Given the description of an element on the screen output the (x, y) to click on. 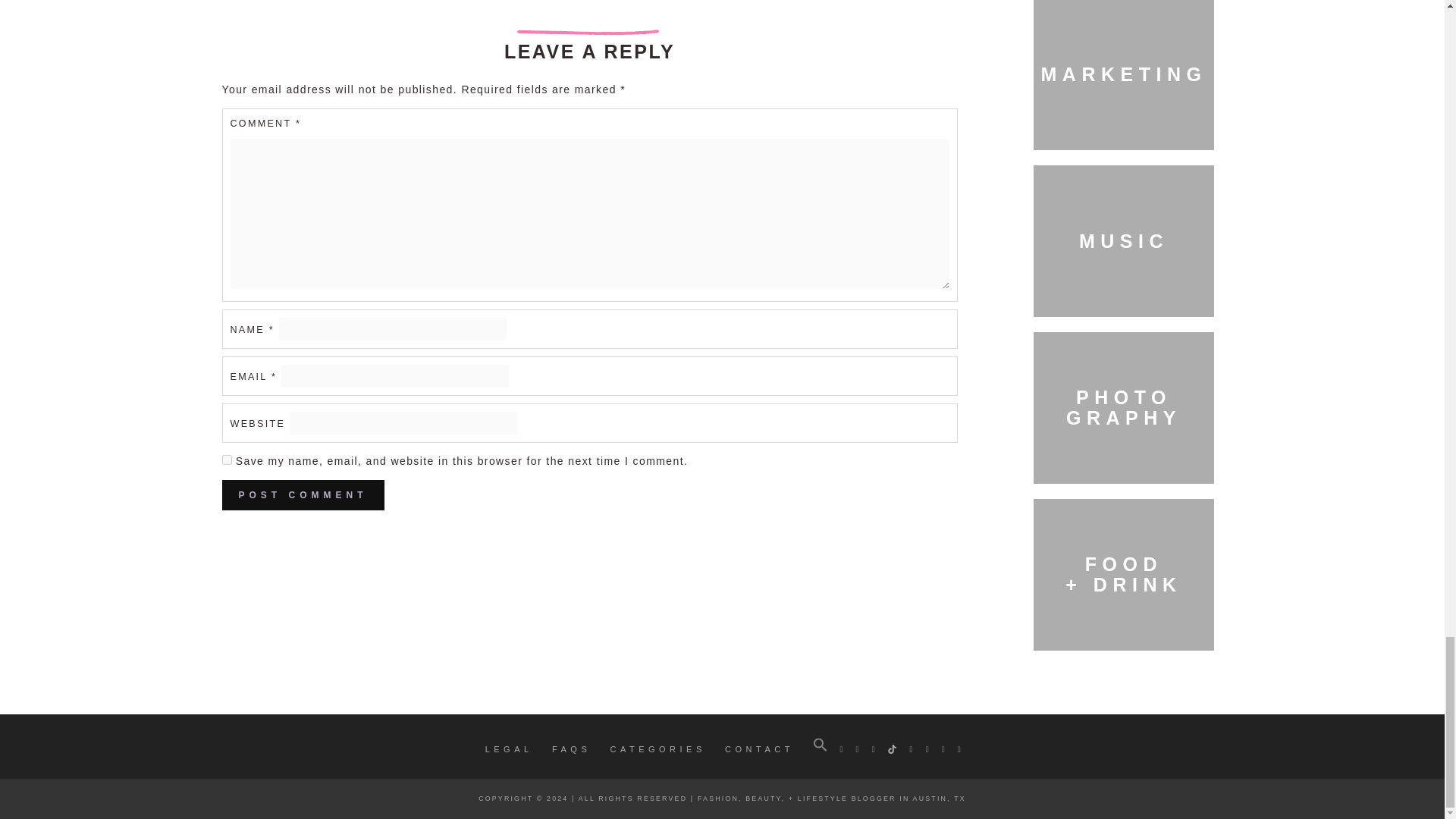
Post Comment (302, 494)
yes (226, 460)
